Given the description of an element on the screen output the (x, y) to click on. 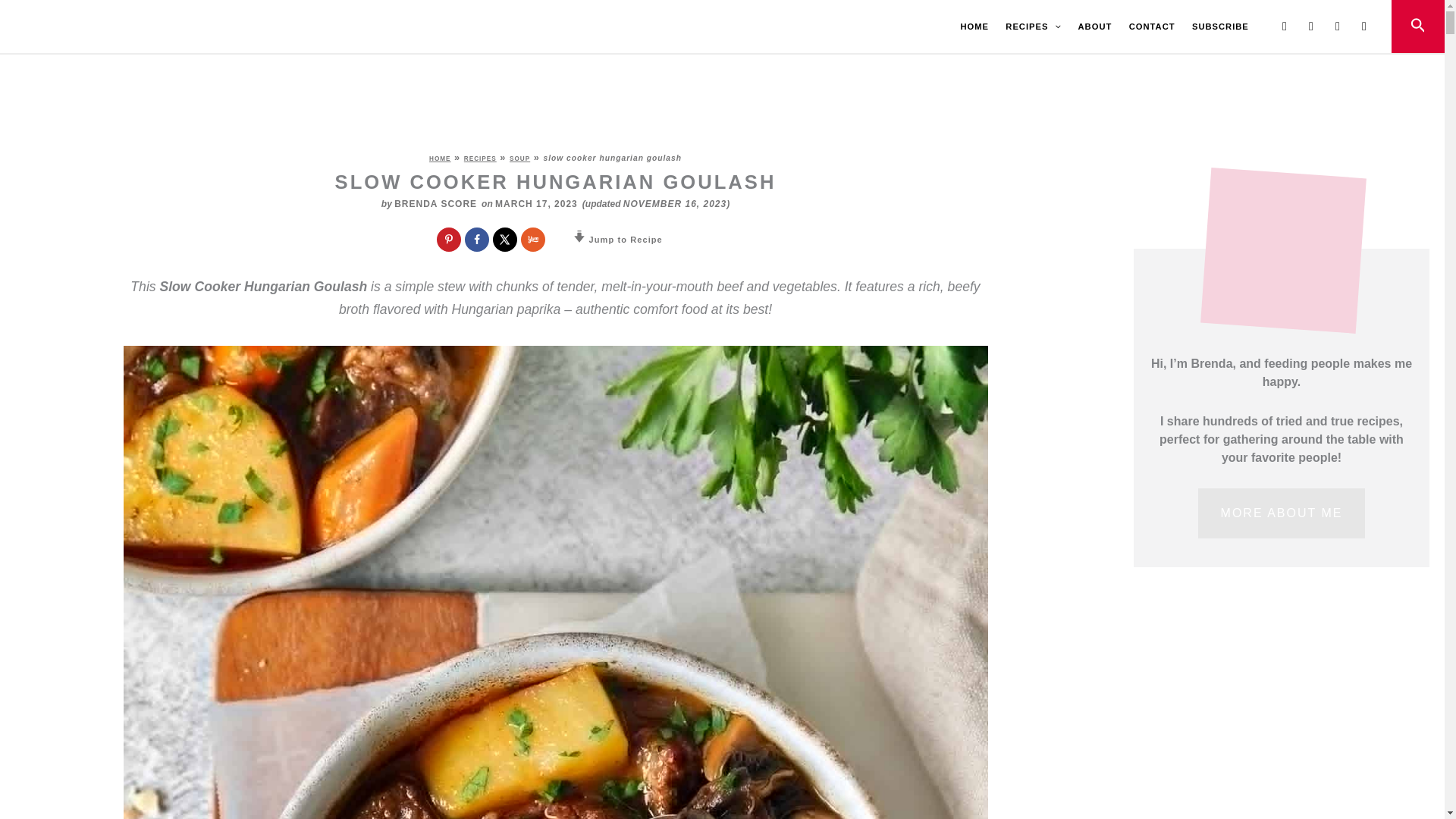
Twitter (1363, 26)
Save to Pinterest (448, 239)
Instagram (1310, 26)
ABOUT (1093, 26)
Facebook (1284, 26)
SUBSCRIBE (1220, 26)
Posts by Brenda Score (435, 204)
RECIPES (1032, 26)
Pinterest (1336, 26)
Share on Facebook (476, 239)
Share on X (504, 239)
CONTACT (1152, 26)
Share on Yummly (532, 239)
